Given the description of an element on the screen output the (x, y) to click on. 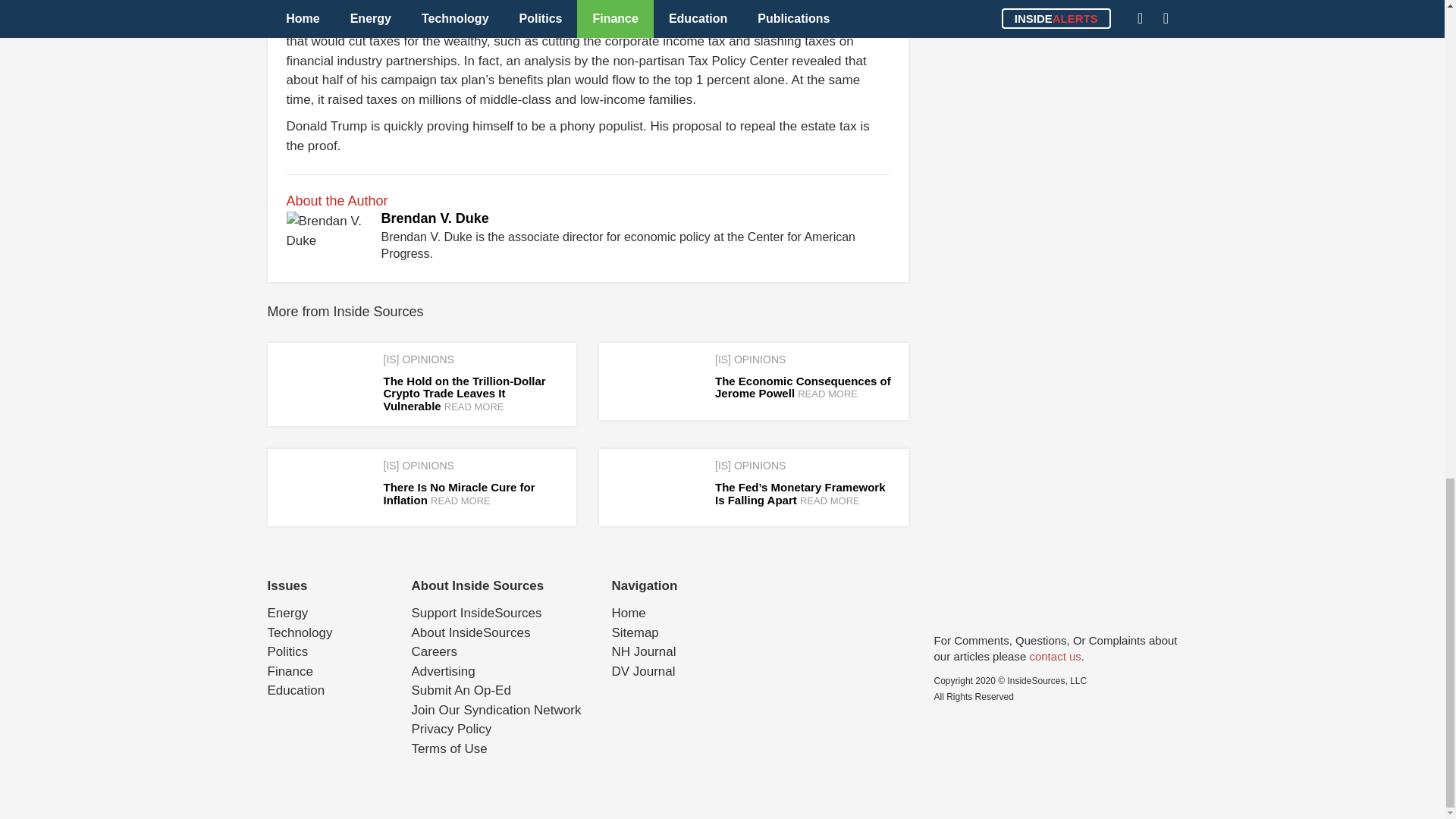
The Economic Consequences of Jerome Powell READ MORE (802, 387)
Brendan V. Duke (433, 218)
Brendan V. Duke (433, 218)
There Is No Miracle Cure for Inflation READ MORE (459, 493)
